Given the description of an element on the screen output the (x, y) to click on. 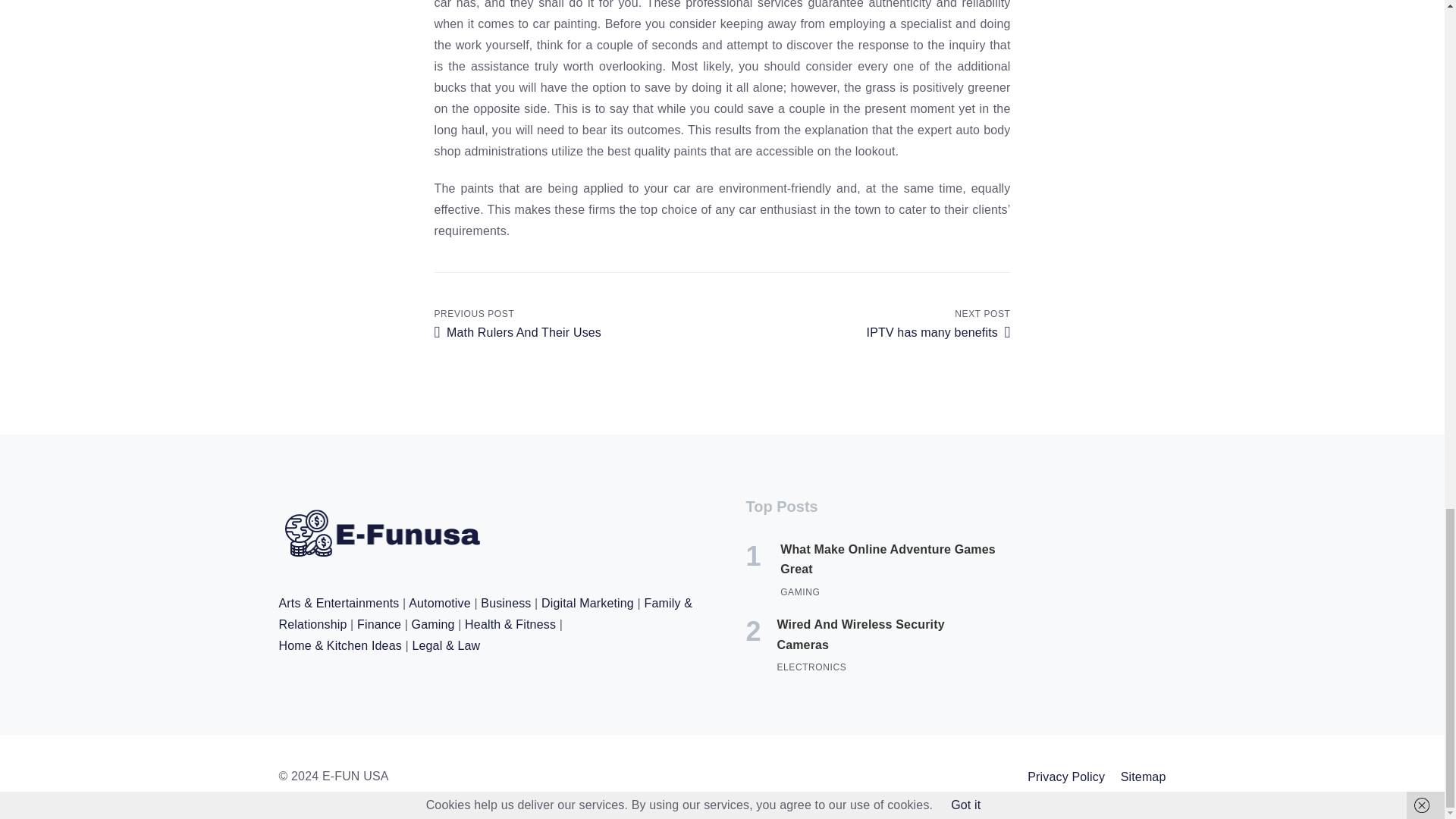
What Make Online Adventure Games Great (577, 322)
Business (893, 559)
Wired And Wireless Security Cameras (505, 603)
Gaming (877, 635)
Privacy Policy (433, 624)
Digital Marketing (1066, 776)
Sitemap (587, 603)
ELECTRONICS (1143, 776)
Finance (810, 666)
Automotive (866, 322)
GAMING (378, 624)
